Given the description of an element on the screen output the (x, y) to click on. 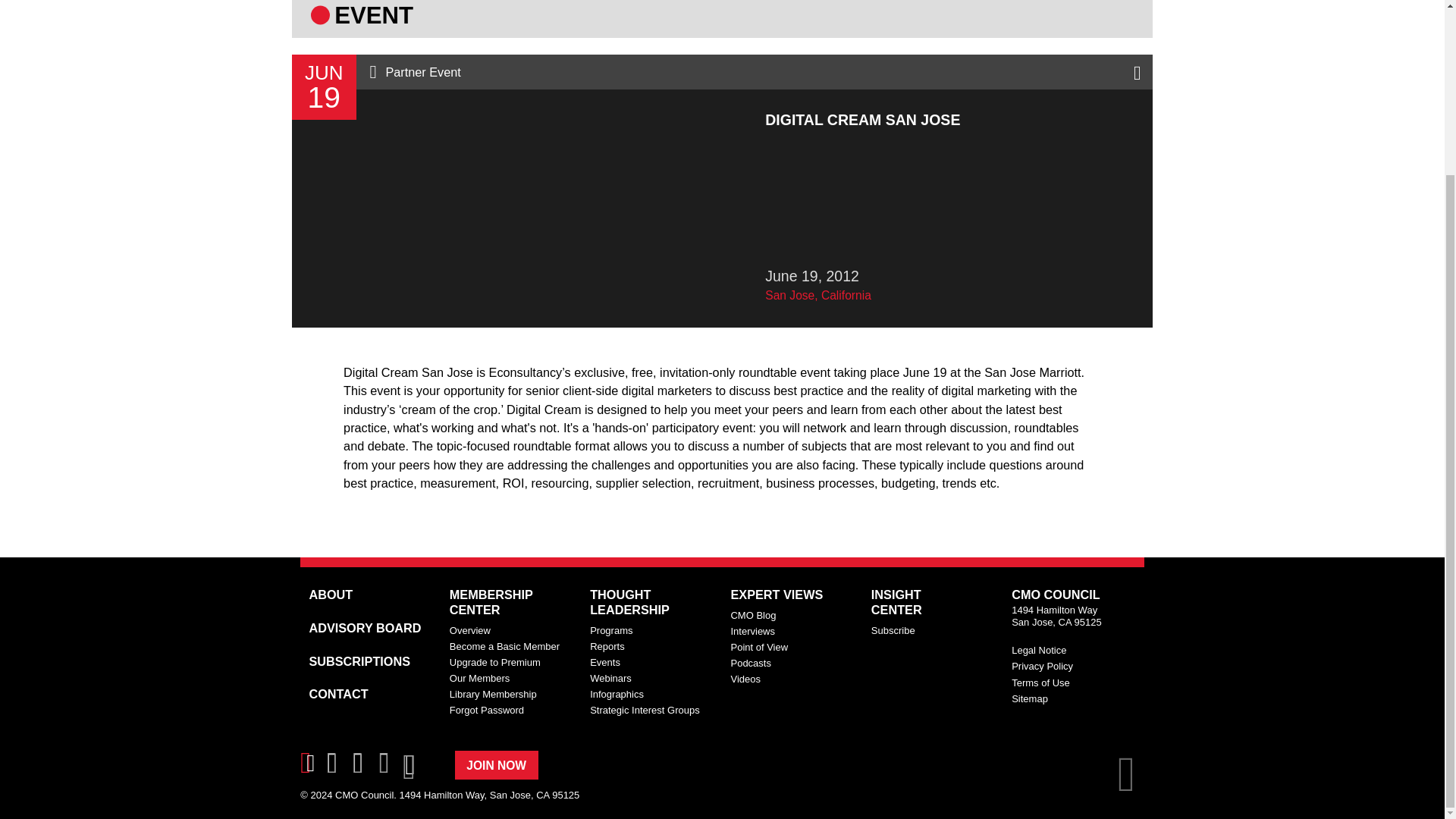
DIGITAL CREAM SAN JOSE (721, 519)
DIGITAL CREAM SAN JOSE (721, 410)
